Given the description of an element on the screen output the (x, y) to click on. 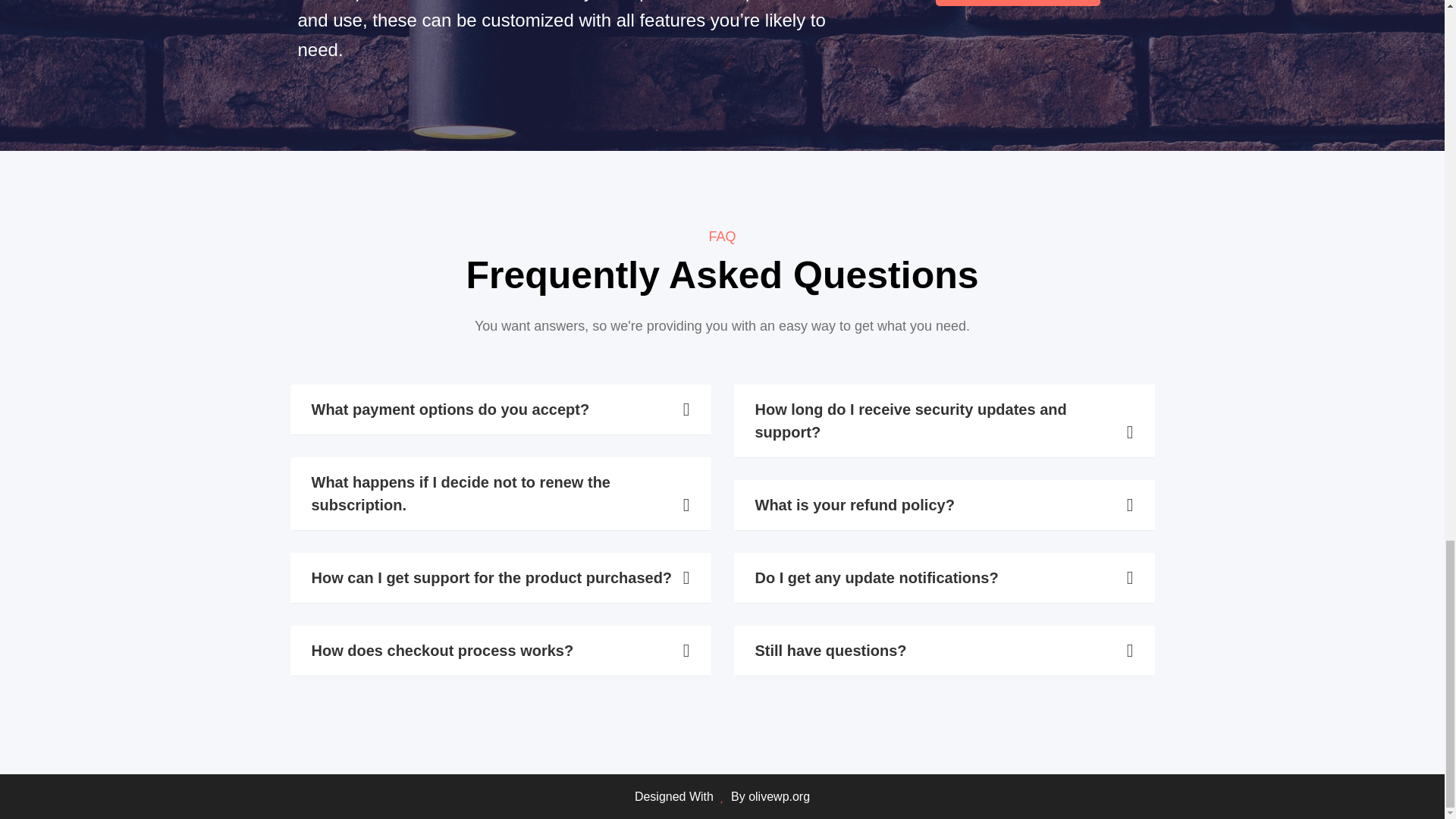
How does checkout process works? (499, 650)
Still have questions? (943, 650)
How can I get support for the product purchased? (499, 577)
How long do I receive security updates and support? (943, 420)
What happens if I decide not to renew the subscription. (499, 493)
Do I get any update notifications? (943, 577)
What is your refund policy? (943, 504)
What payment options do you accept? (499, 409)
View Extensions (1018, 2)
